Given the description of an element on the screen output the (x, y) to click on. 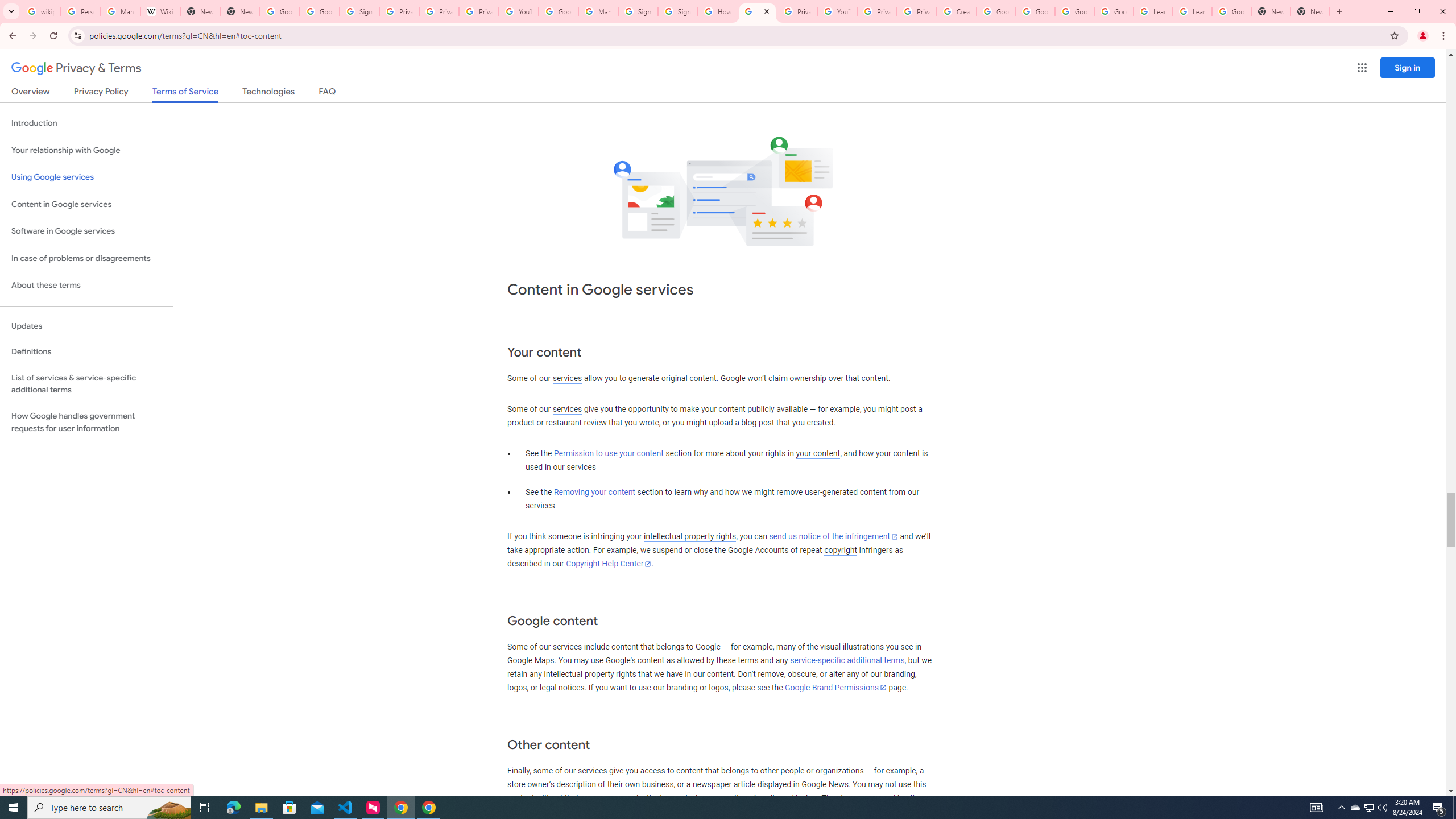
Sign in - Google Accounts (677, 11)
Google Account Help (1034, 11)
Manage your Location History - Google Search Help (120, 11)
Content in Google services (86, 204)
Google Account Help (1113, 11)
